Given the description of an element on the screen output the (x, y) to click on. 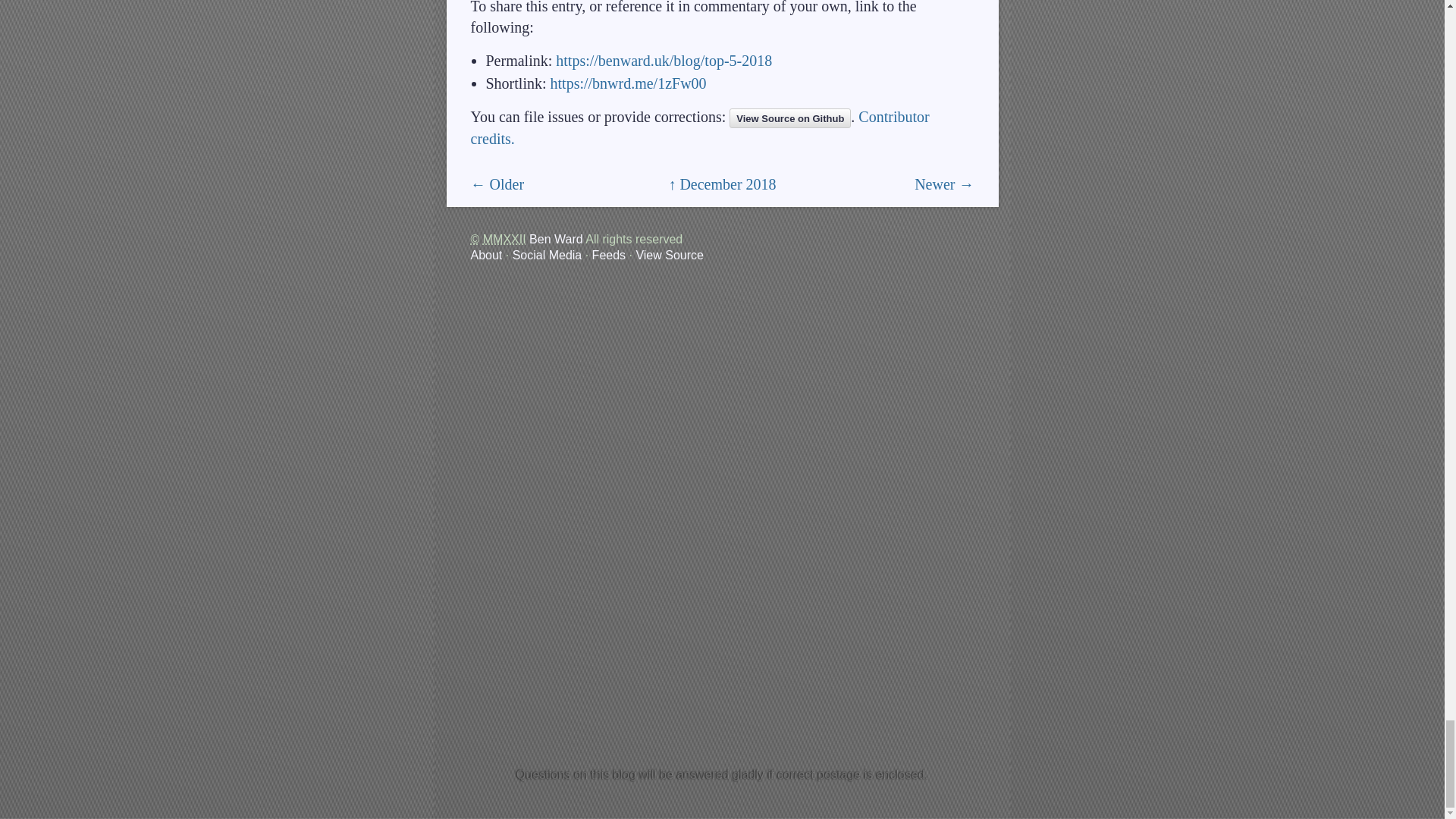
2022 (504, 238)
About (486, 254)
